Given the description of an element on the screen output the (x, y) to click on. 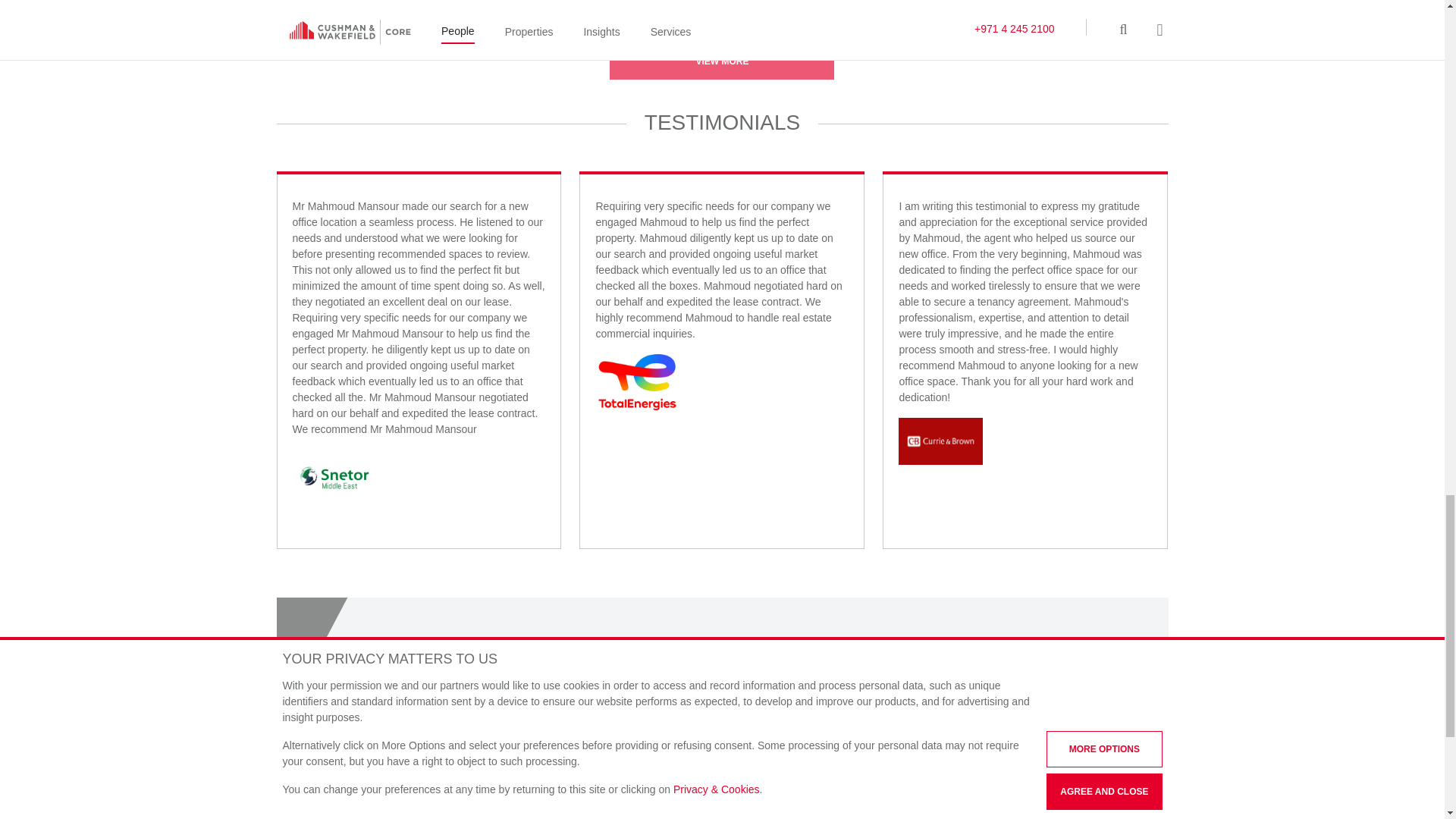
MarsGo (328, 9)
NeftLink (439, 9)
